Given the description of an element on the screen output the (x, y) to click on. 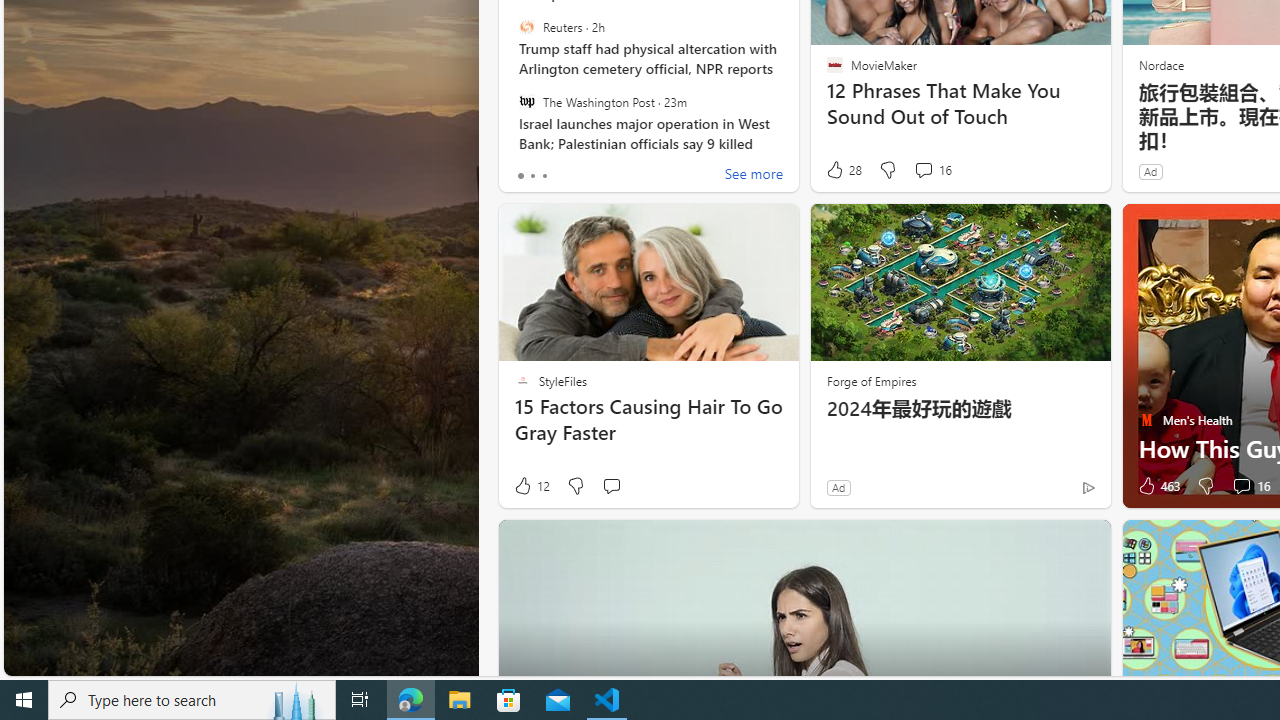
28 Like (843, 170)
12 Like (531, 485)
463 Like (1157, 485)
Reuters (526, 27)
tab-0 (520, 175)
View comments 16 Comment (1249, 485)
Forge of Empires (870, 380)
View comments 16 Comment (1241, 485)
The Washington Post (526, 101)
